Given the description of an element on the screen output the (x, y) to click on. 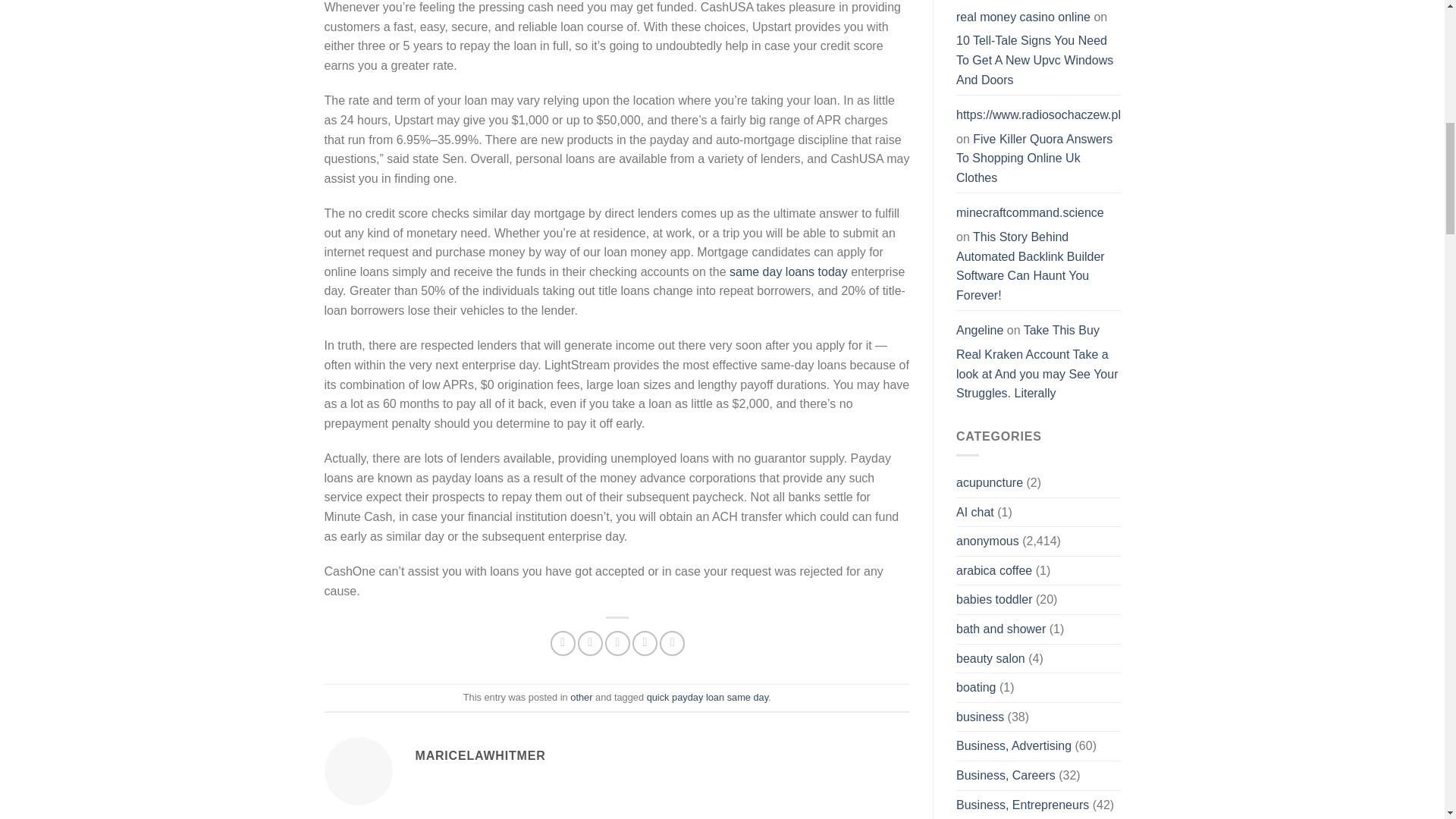
quick payday loan same day (707, 696)
same day loans today (788, 271)
other (581, 696)
